Given the description of an element on the screen output the (x, y) to click on. 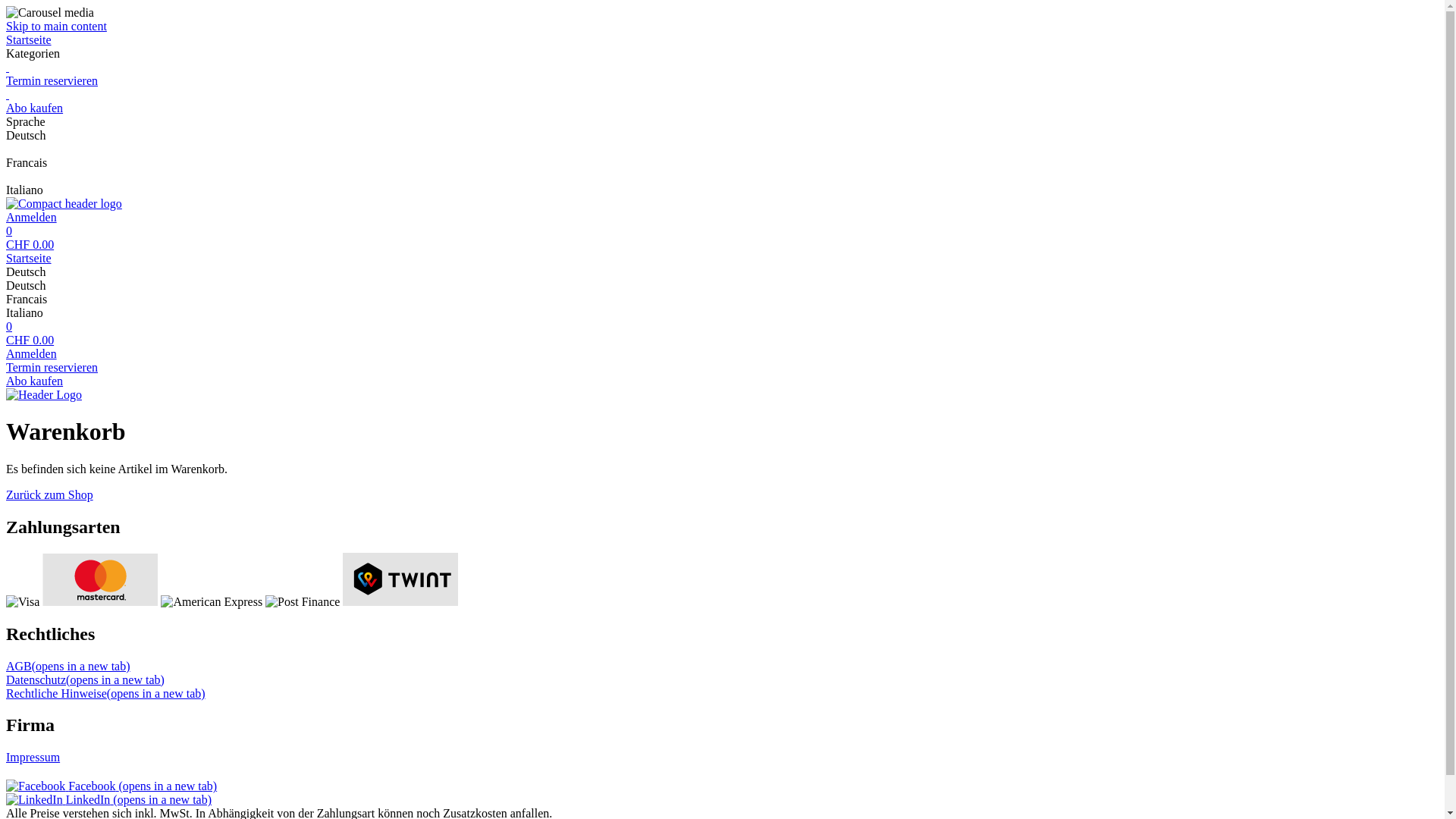
0
CHF 0.00 Element type: text (722, 333)
Impressum Element type: text (32, 756)
LinkedIn (opens in a new tab) Element type: text (108, 799)
Skip to main content Element type: text (56, 25)
  Abo kaufen Element type: text (722, 101)
Termin reservieren Element type: text (722, 367)
Rechtliche Hinweise(opens in a new tab) Element type: text (105, 693)
0
CHF 0.00 Element type: text (722, 237)
Anmelden Element type: text (722, 360)
Anmelden Element type: text (722, 217)
Startseite Element type: text (722, 258)
Datenschutz(opens in a new tab) Element type: text (85, 679)
AGB(opens in a new tab) Element type: text (68, 665)
Abo kaufen Element type: text (722, 381)
Startseite Element type: text (722, 40)
Facebook (opens in a new tab) Element type: text (111, 785)
  Termin reservieren Element type: text (722, 73)
